Given the description of an element on the screen output the (x, y) to click on. 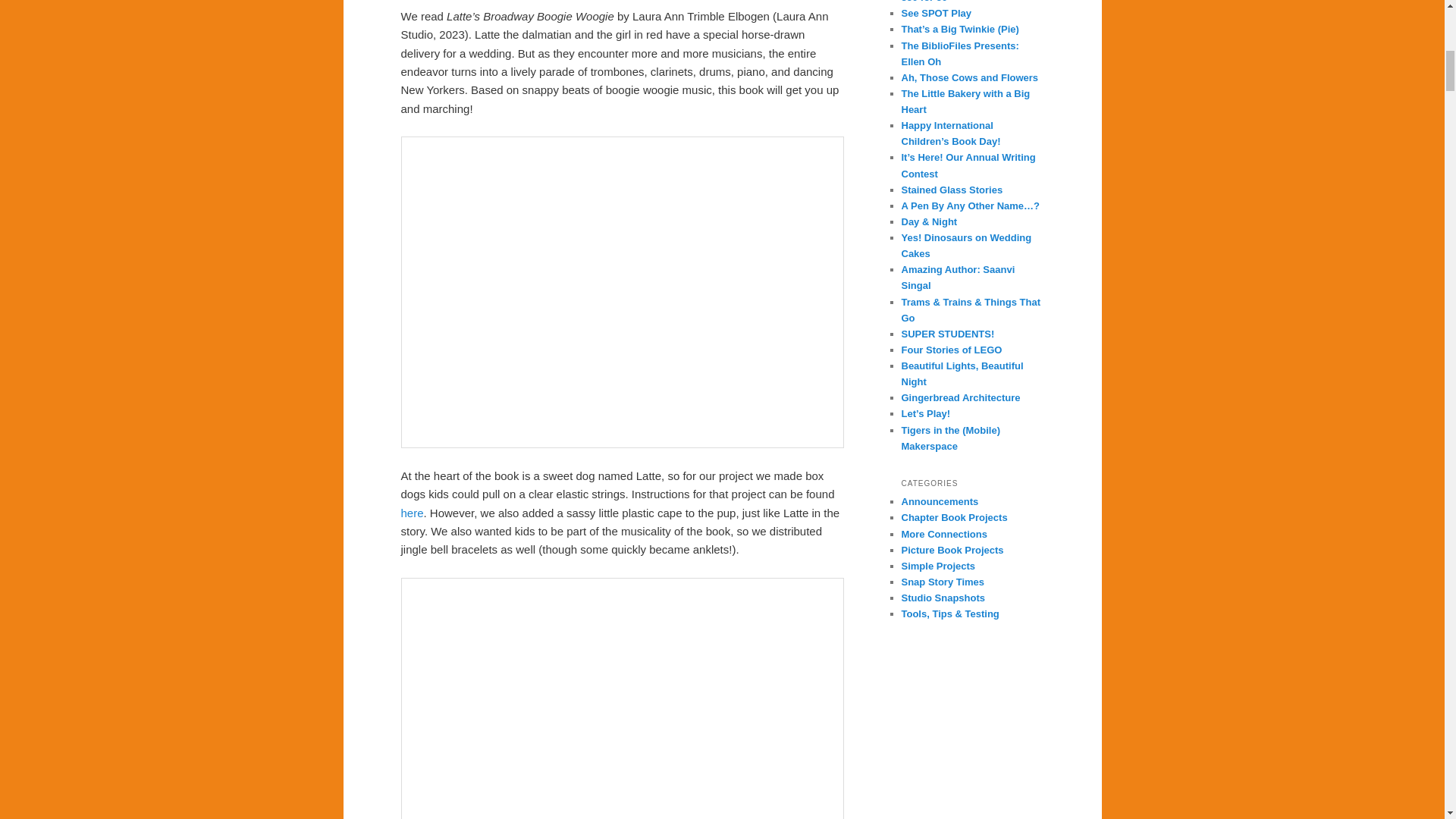
here (411, 512)
